Given the description of an element on the screen output the (x, y) to click on. 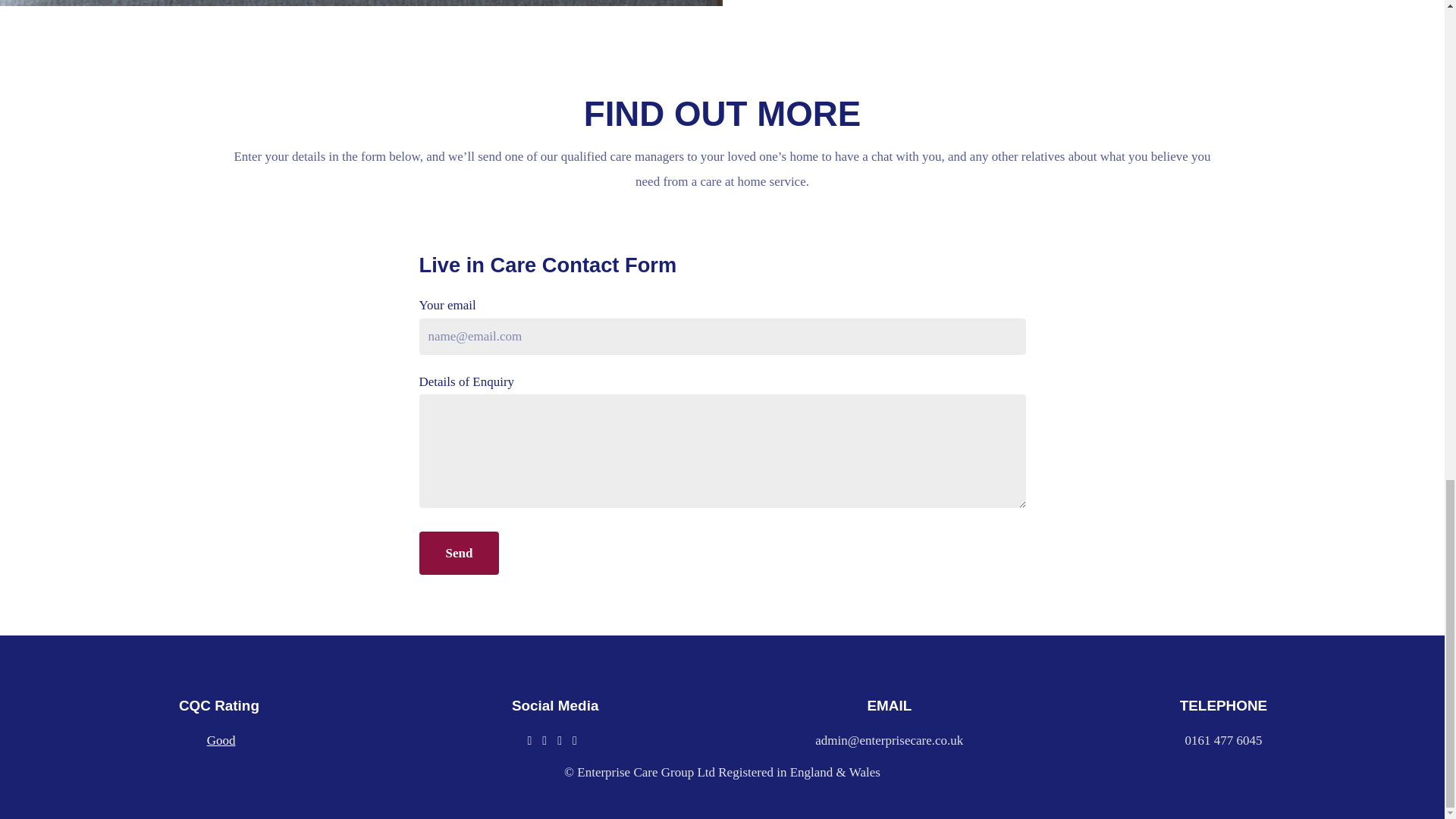
0161 477 6045 (1223, 740)
Good (220, 740)
Send (459, 552)
